Given the description of an element on the screen output the (x, y) to click on. 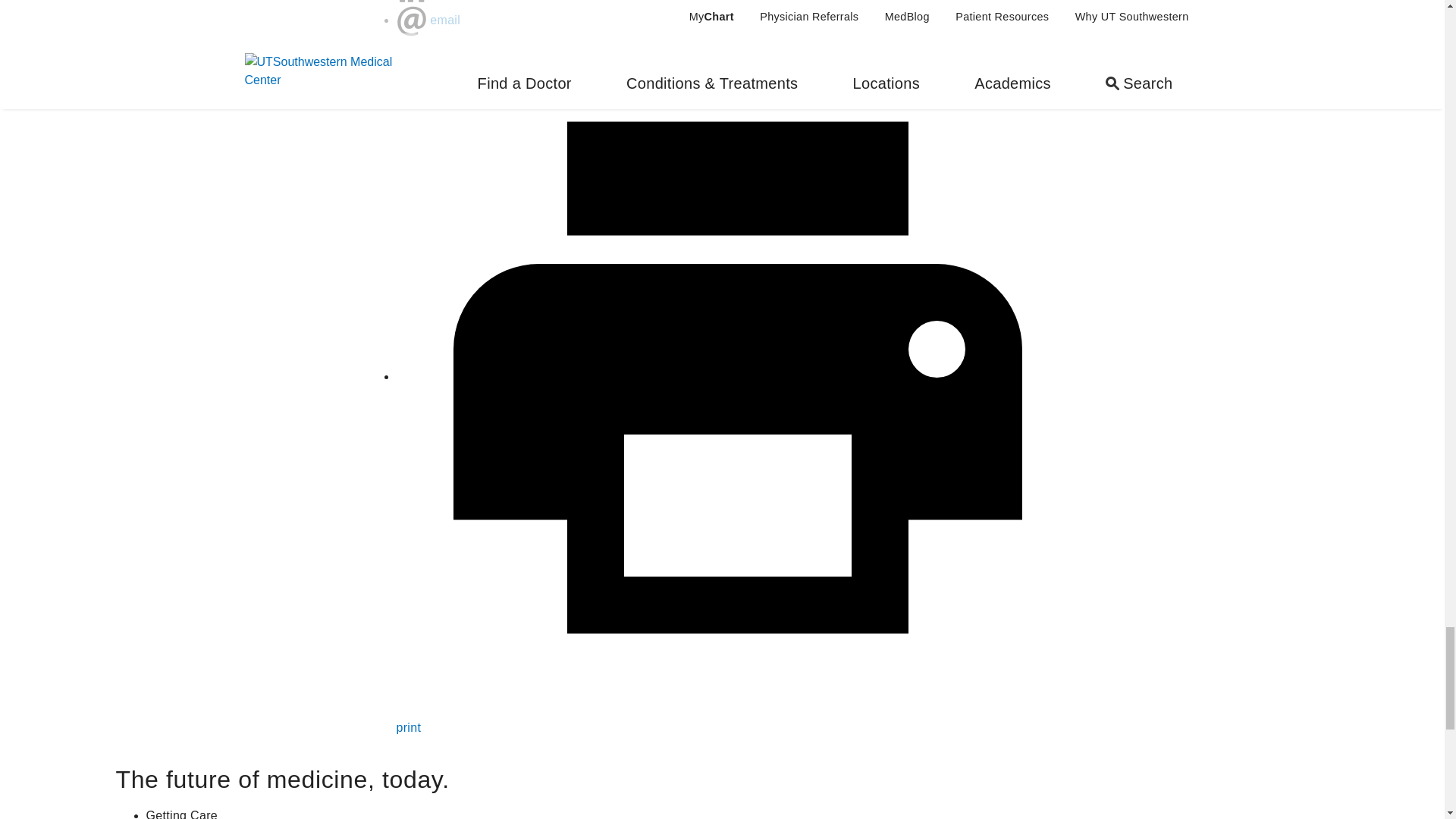
Share via LinkedIn (411, 2)
Share via Email (411, 20)
